Given the description of an element on the screen output the (x, y) to click on. 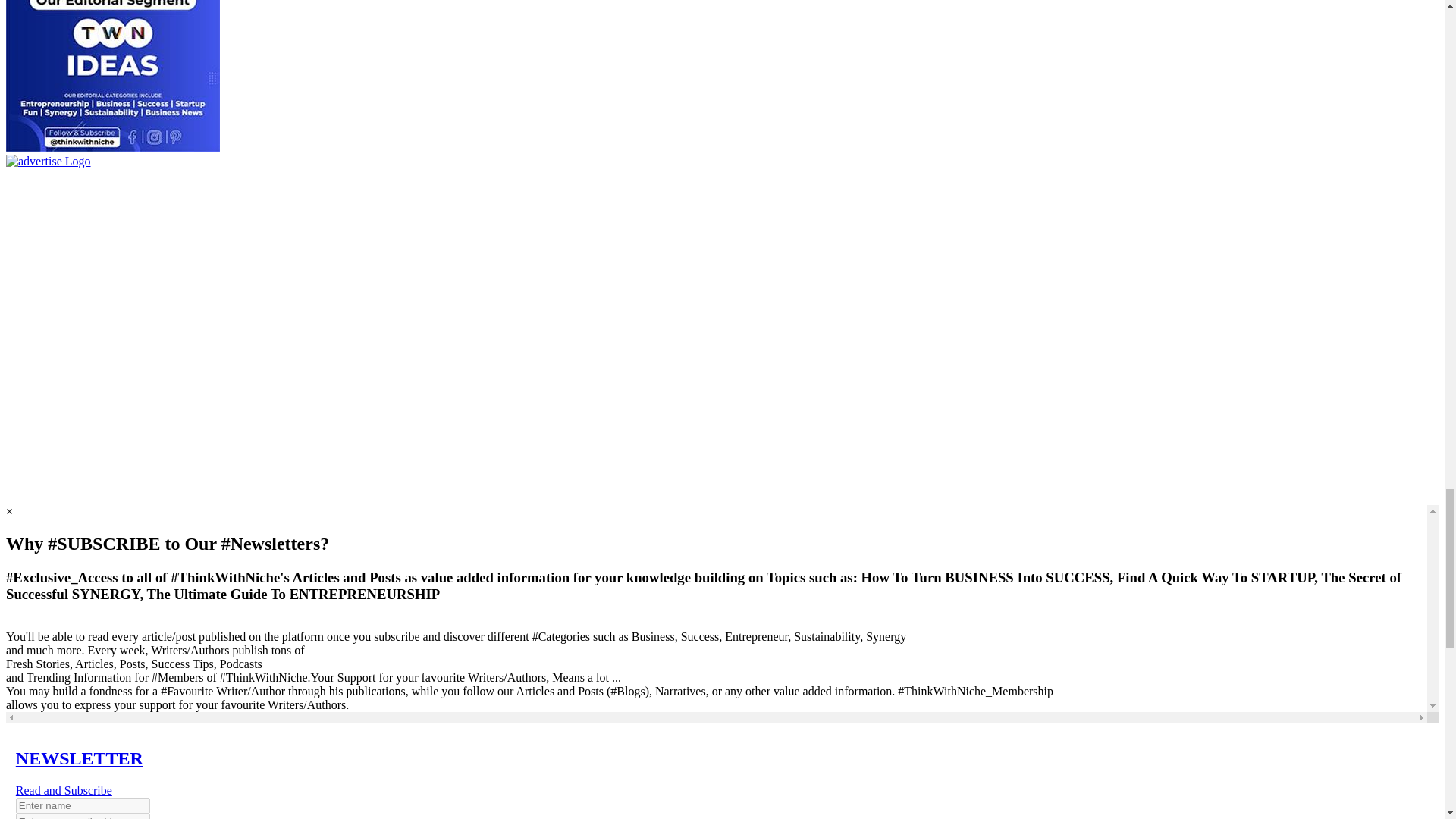
Advertisement (100, 445)
